Given the description of an element on the screen output the (x, y) to click on. 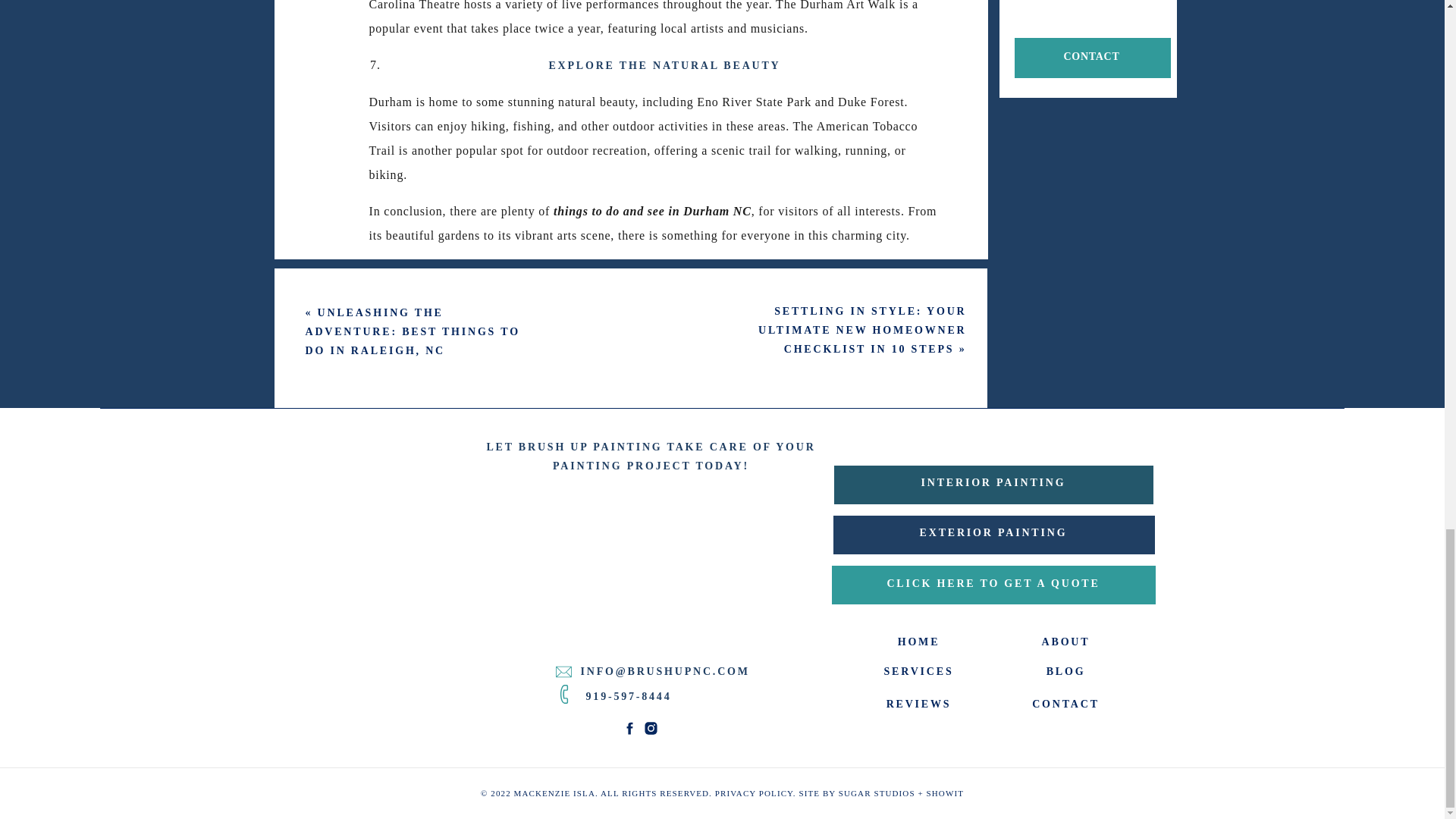
BLOG (1065, 670)
CONTACT (1091, 58)
EXTERIOR PAINTING (993, 535)
CONTACT (1065, 703)
ABOUT (1065, 641)
REVIEWS (918, 703)
UNLEASHING THE ADVENTURE: BEST THINGS TO DO IN RALEIGH, NC (411, 331)
INTERIOR PAINTING (993, 485)
SERVICES (918, 670)
